Given the description of an element on the screen output the (x, y) to click on. 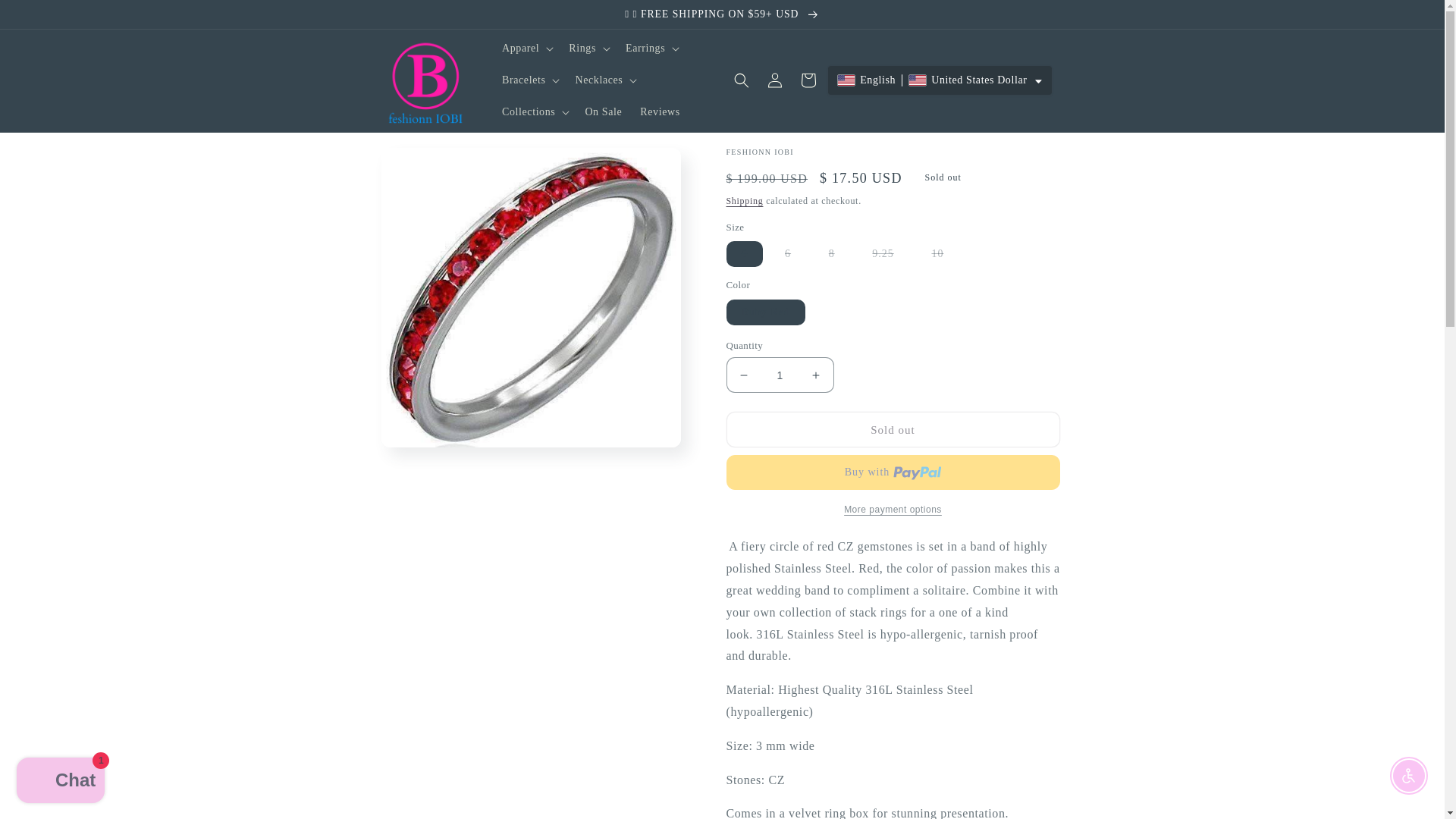
Skip to content (45, 17)
1 (780, 375)
